Given the description of an element on the screen output the (x, y) to click on. 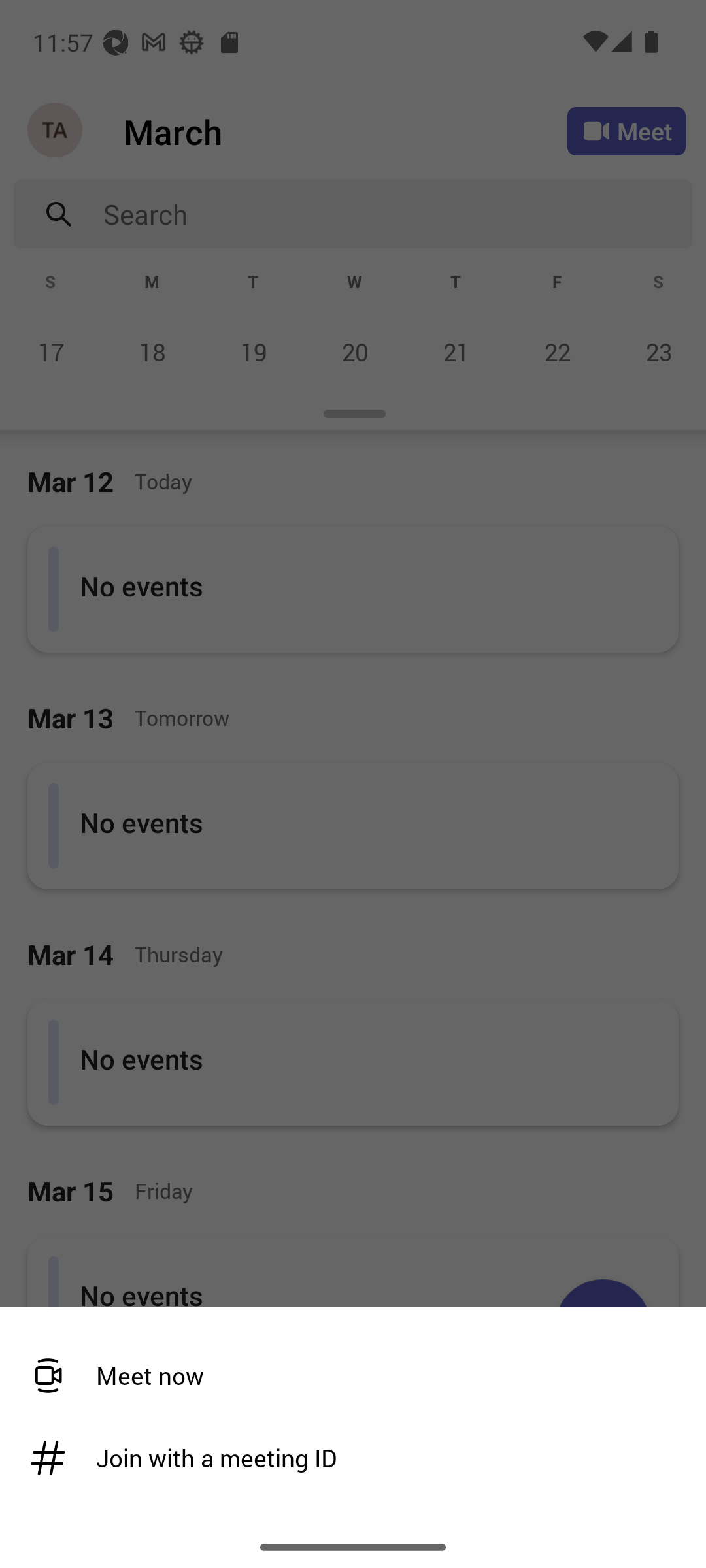
Meet now (346, 1375)
Join with a meeting ID (346, 1458)
